Given the description of an element on the screen output the (x, y) to click on. 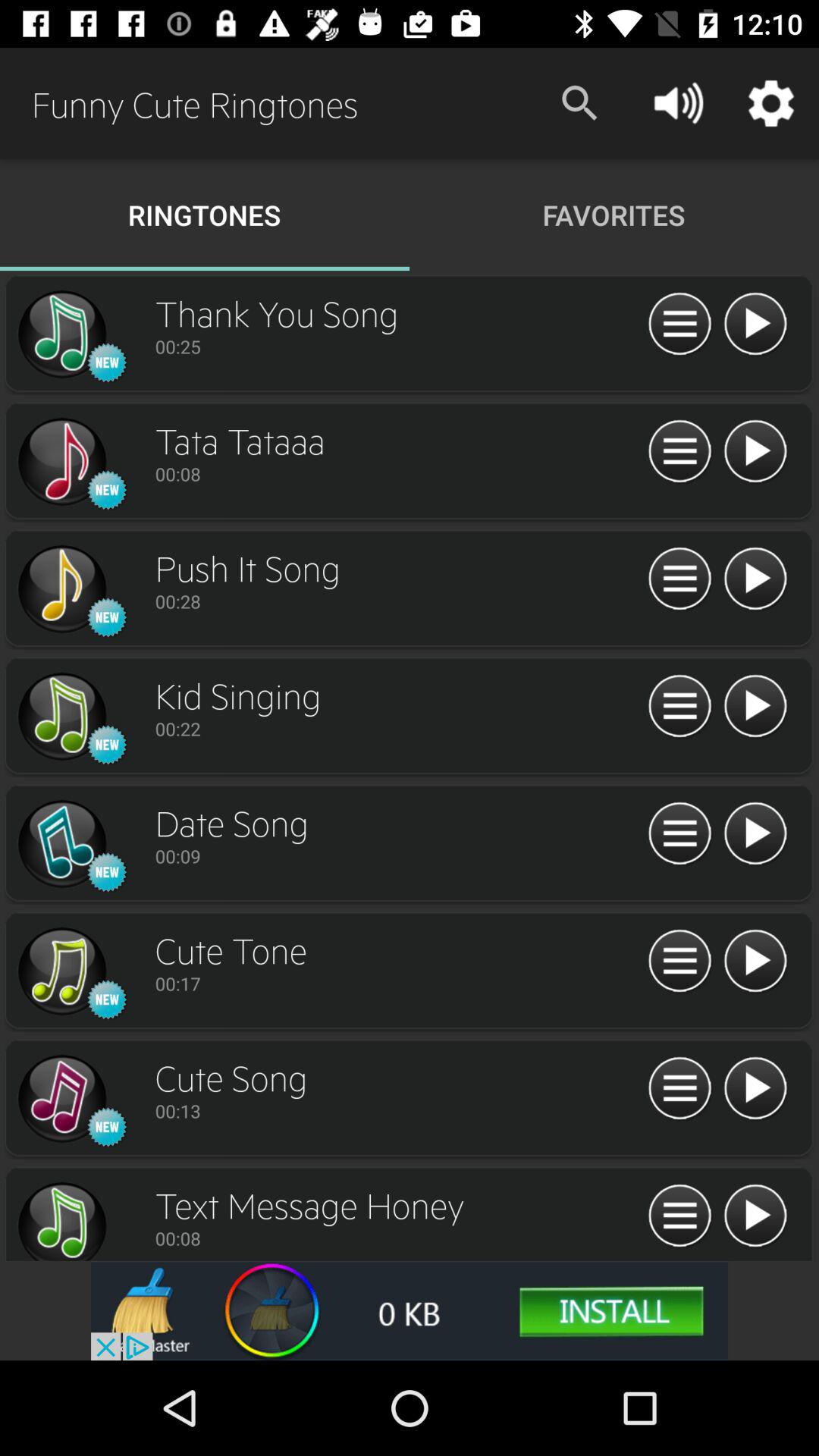
go to advertisement website (409, 1310)
